Given the description of an element on the screen output the (x, y) to click on. 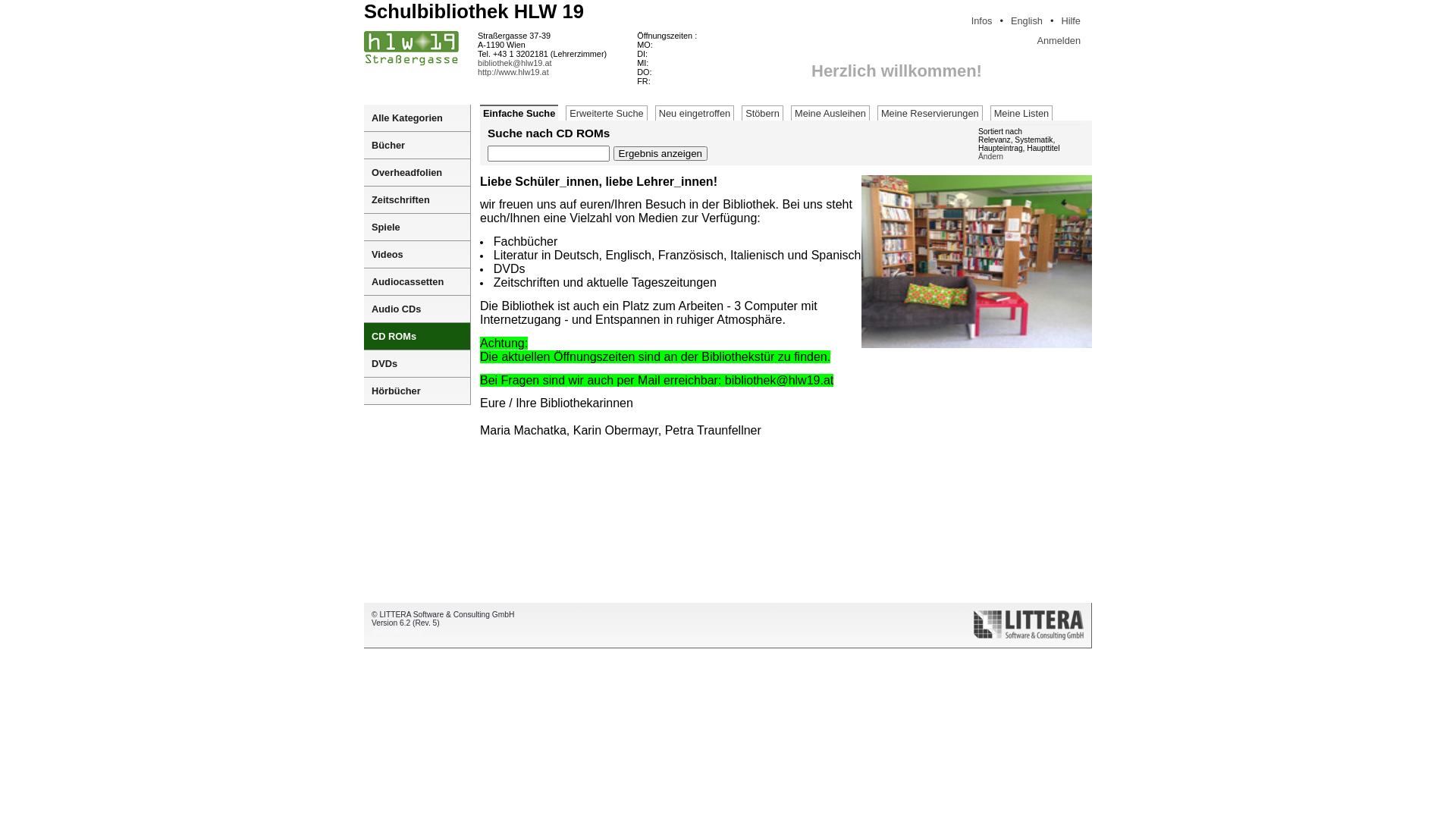
Videos Element type: text (417, 254)
Zeitschriften Element type: text (417, 199)
Schulbibliothek HLW 19 Element type: text (473, 10)
CD ROMs Element type: text (417, 336)
Meine Listen Element type: text (1021, 112)
bibliothek@hlw19.at Element type: text (514, 62)
Neu eingetroffen Element type: text (694, 112)
Alle Kategorien Element type: text (417, 117)
DVDs Element type: text (417, 363)
Audiocassetten Element type: text (417, 281)
Anmelden Element type: text (1058, 40)
Hilfe Element type: text (1070, 21)
Meine Ausleihen Element type: text (829, 112)
www.littera.eu Element type: text (395, 631)
Erweiterte Suche Element type: text (605, 112)
Einfache Suche Element type: text (519, 112)
English Element type: text (1026, 21)
Audio CDs Element type: text (417, 309)
http://www.hlw19.at Element type: text (513, 71)
Infos Element type: text (981, 21)
Spiele Element type: text (417, 227)
Overheadfolien Element type: text (417, 172)
Ergebnis anzeigen Element type: text (660, 153)
Meine Reservierungen Element type: text (929, 112)
